Given the description of an element on the screen output the (x, y) to click on. 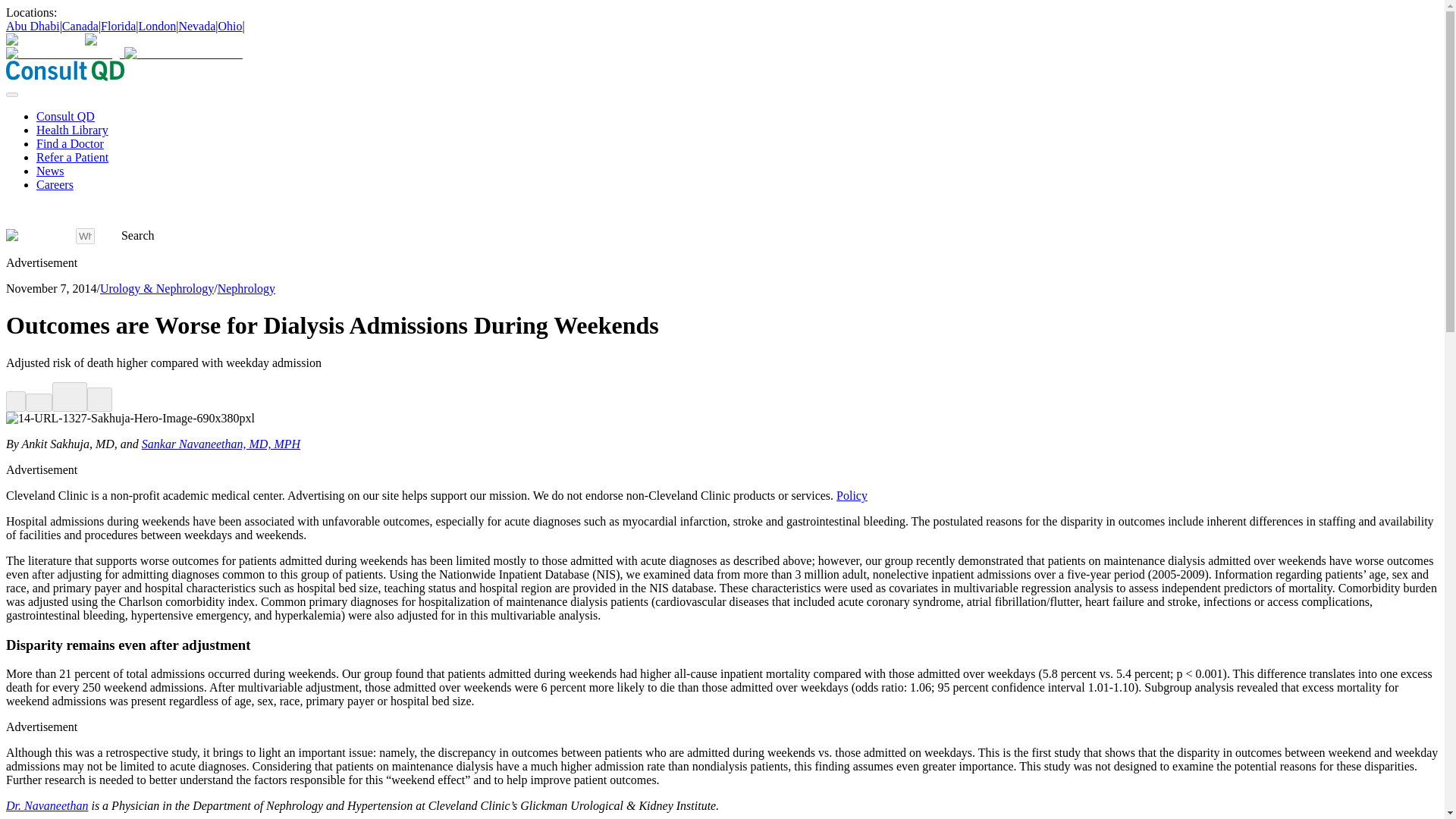
Nevada (196, 25)
Careers (55, 184)
Nephrology (245, 287)
Canada (80, 25)
Find a Doctor (69, 143)
Sankar Navaneethan, MD, MPH (220, 443)
Refer a Patient (71, 156)
Dr. Navaneethan (46, 805)
News (50, 170)
London (157, 25)
Abu Dhabi (32, 25)
Health Library (71, 129)
Consult QD (65, 115)
Policy (851, 495)
Florida (117, 25)
